Given the description of an element on the screen output the (x, y) to click on. 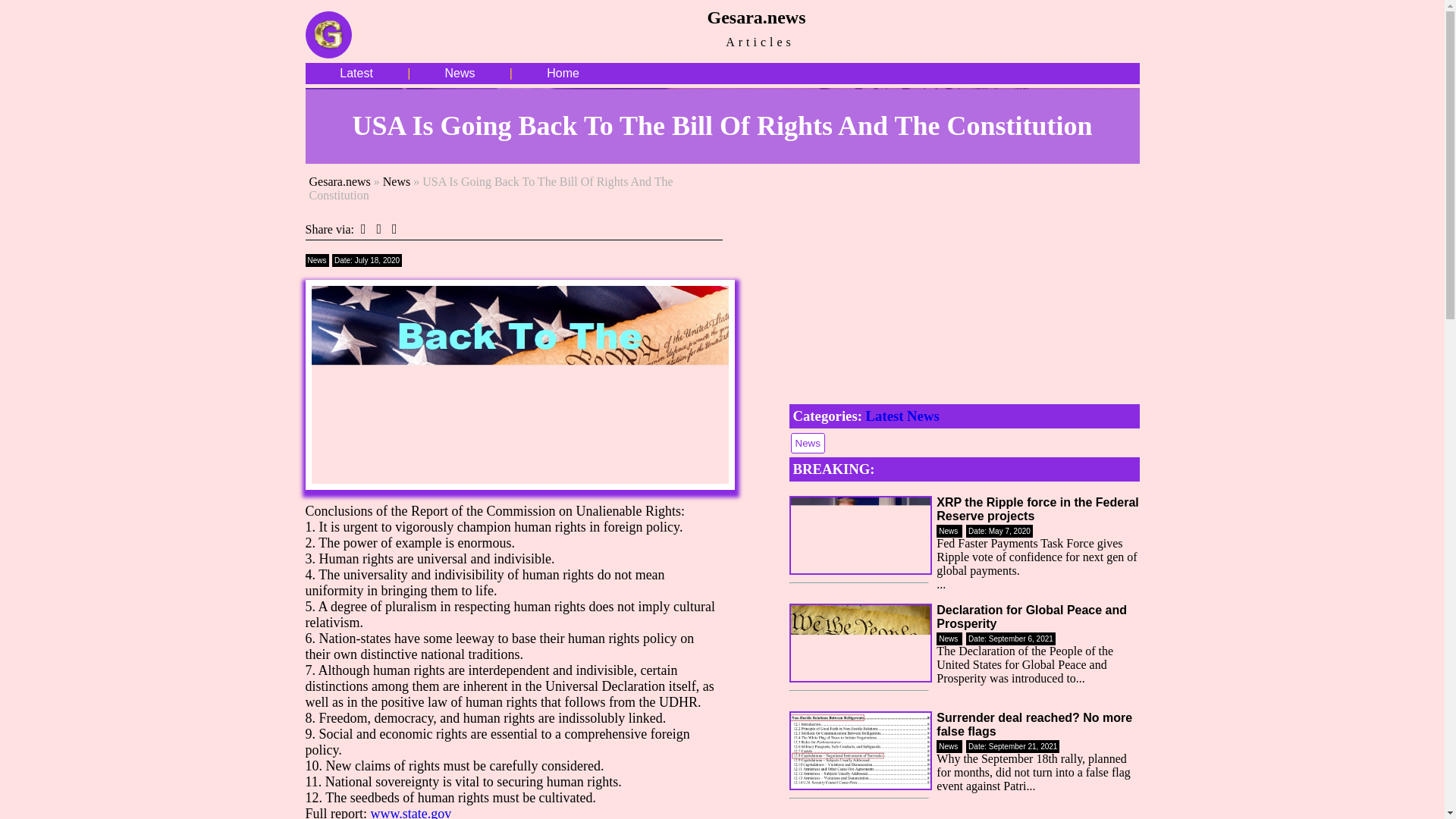
Home (562, 72)
Latest News (902, 415)
News (807, 441)
News (460, 72)
News (396, 181)
www.state.gov (410, 812)
Gesara.news (339, 181)
Latest (356, 72)
